Given the description of an element on the screen output the (x, y) to click on. 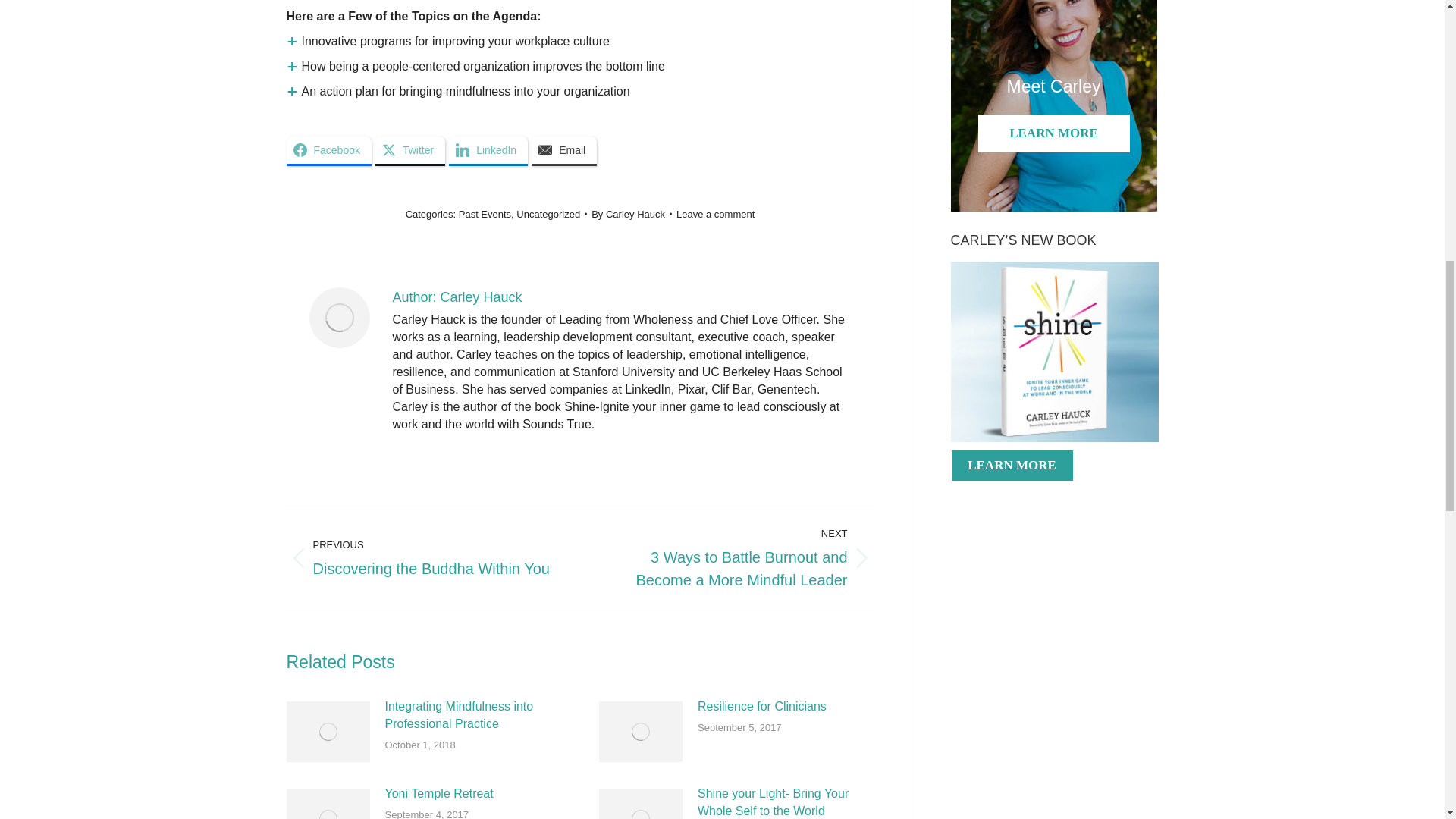
Share on Twitter (410, 151)
Share on Facebook (328, 151)
Share on LinkedIn (487, 151)
